Given the description of an element on the screen output the (x, y) to click on. 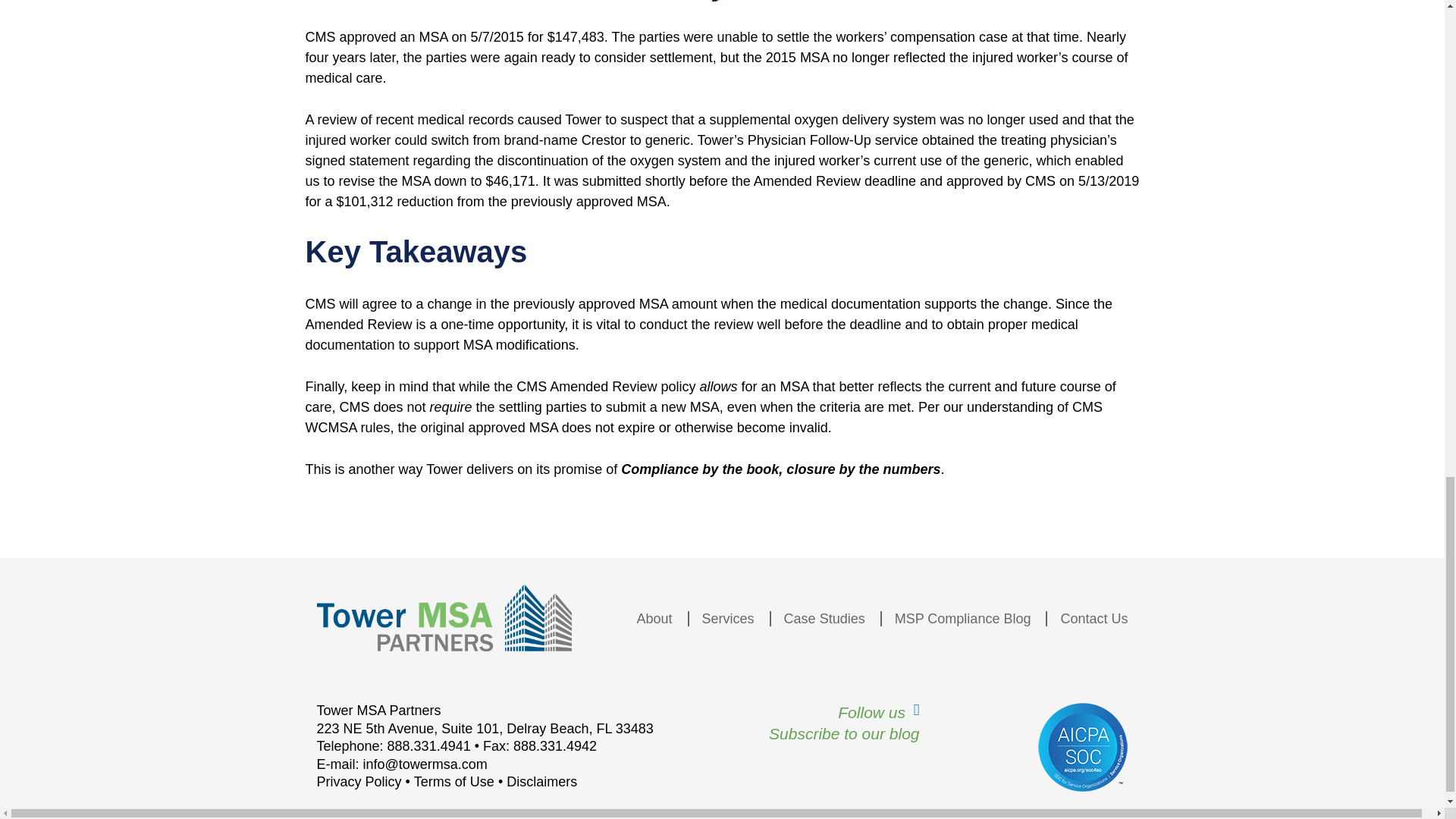
logo2x (444, 617)
About (648, 618)
aicpa-footerlogo (1082, 746)
